Given the description of an element on the screen output the (x, y) to click on. 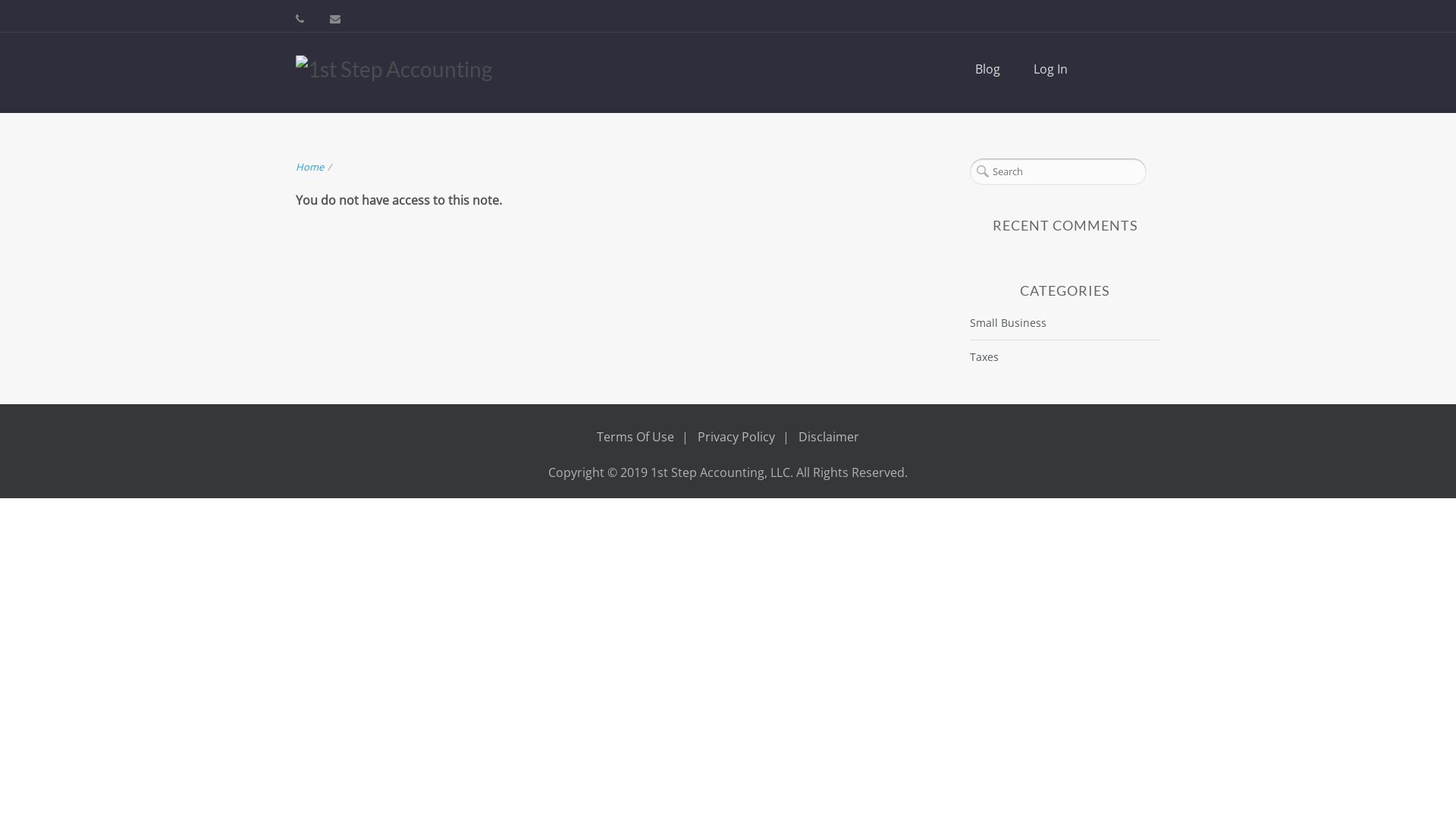
1st Step Accounting Element type: hover (393, 68)
Small Business Element type: text (1007, 322)
Blog Element type: text (987, 68)
Terms Of Use Element type: text (635, 436)
Home Element type: text (309, 166)
Taxes Element type: text (983, 356)
Disclaimer Element type: text (828, 436)
Privacy Policy Element type: text (736, 436)
Log In Element type: text (1050, 68)
